Given the description of an element on the screen output the (x, y) to click on. 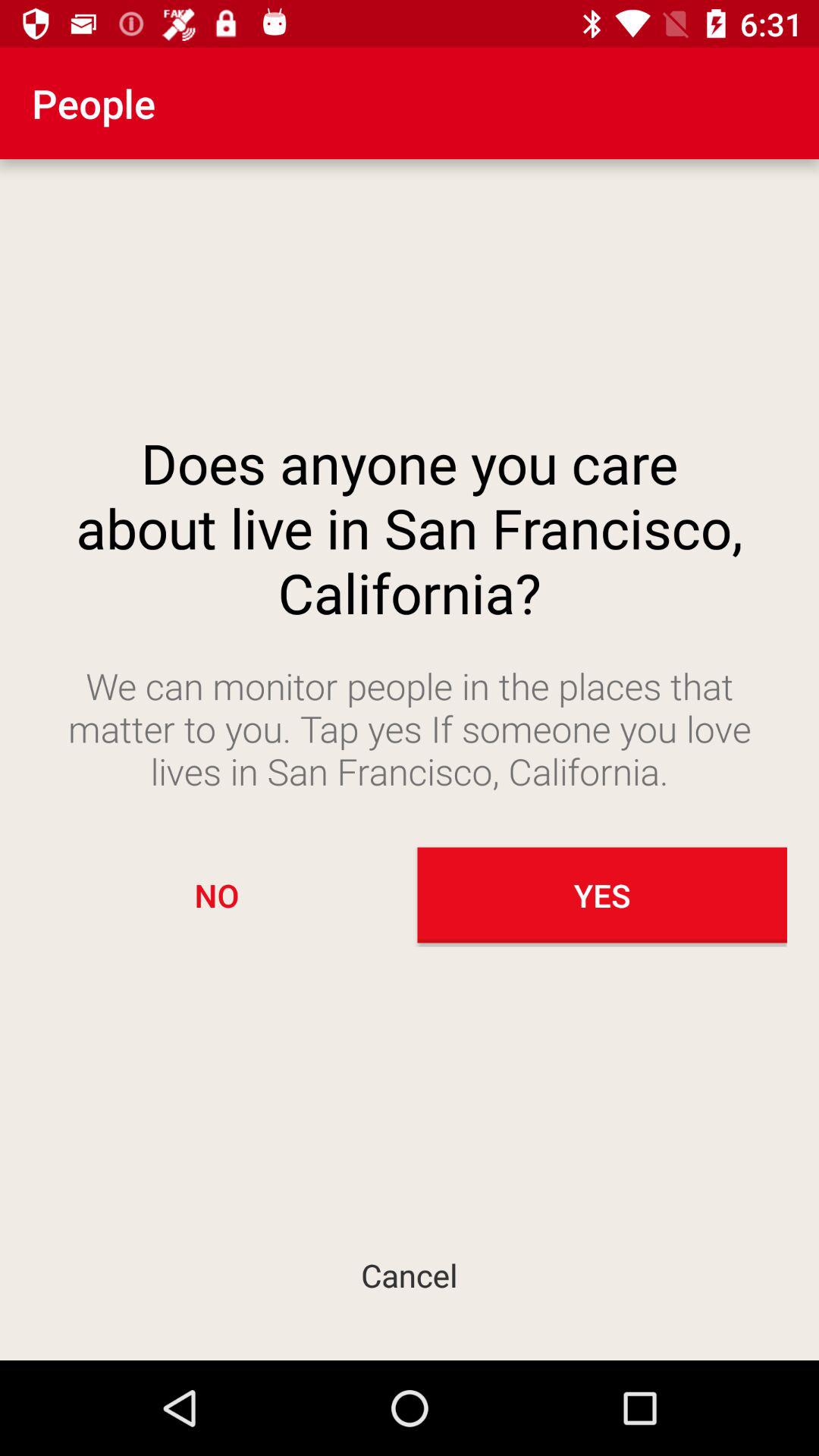
turn off item on the left (216, 894)
